Given the description of an element on the screen output the (x, y) to click on. 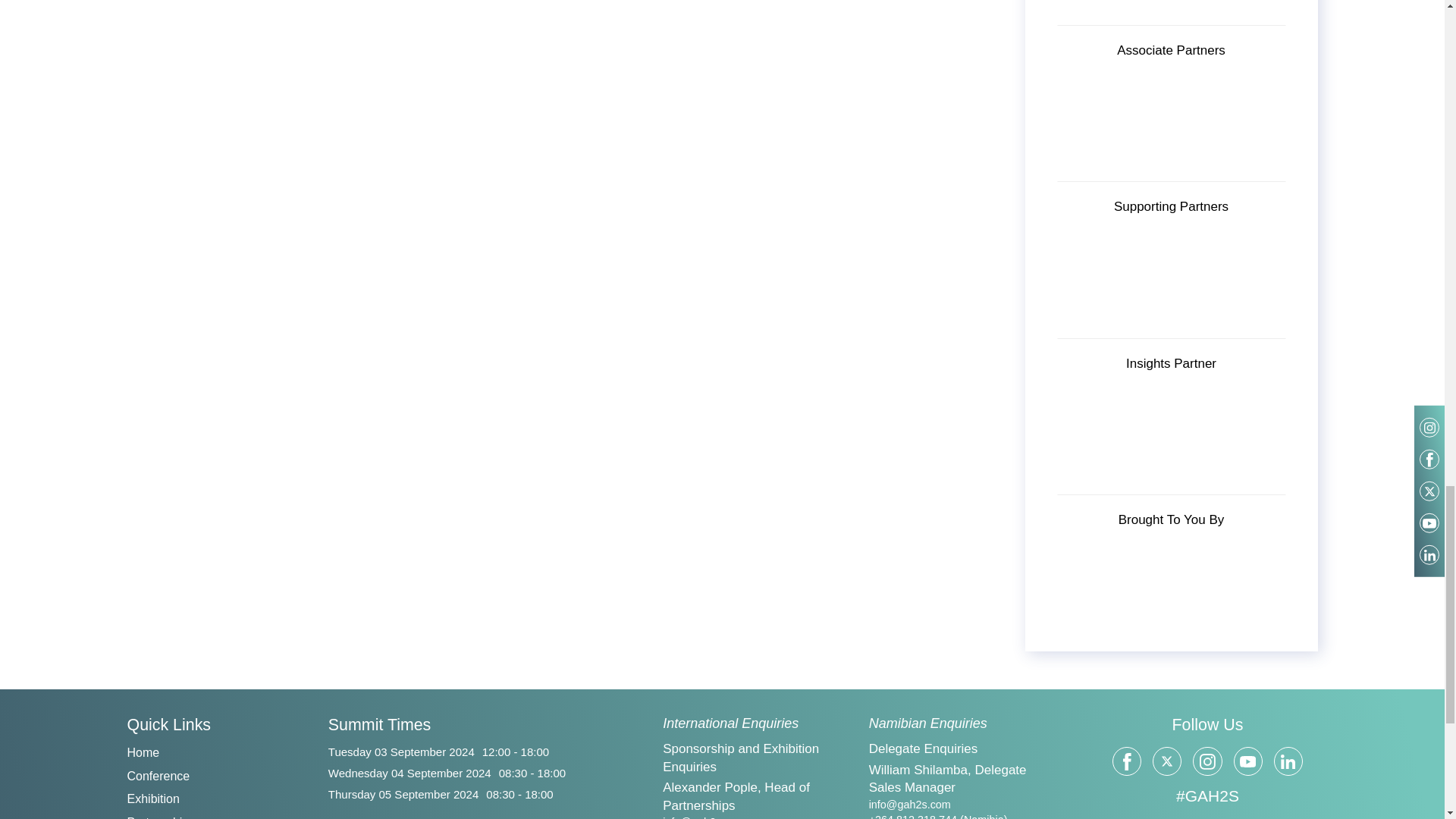
Strategic Conference (159, 775)
Partnership Opportunities (163, 817)
Technology And Innovation Hub (153, 798)
